Given the description of an element on the screen output the (x, y) to click on. 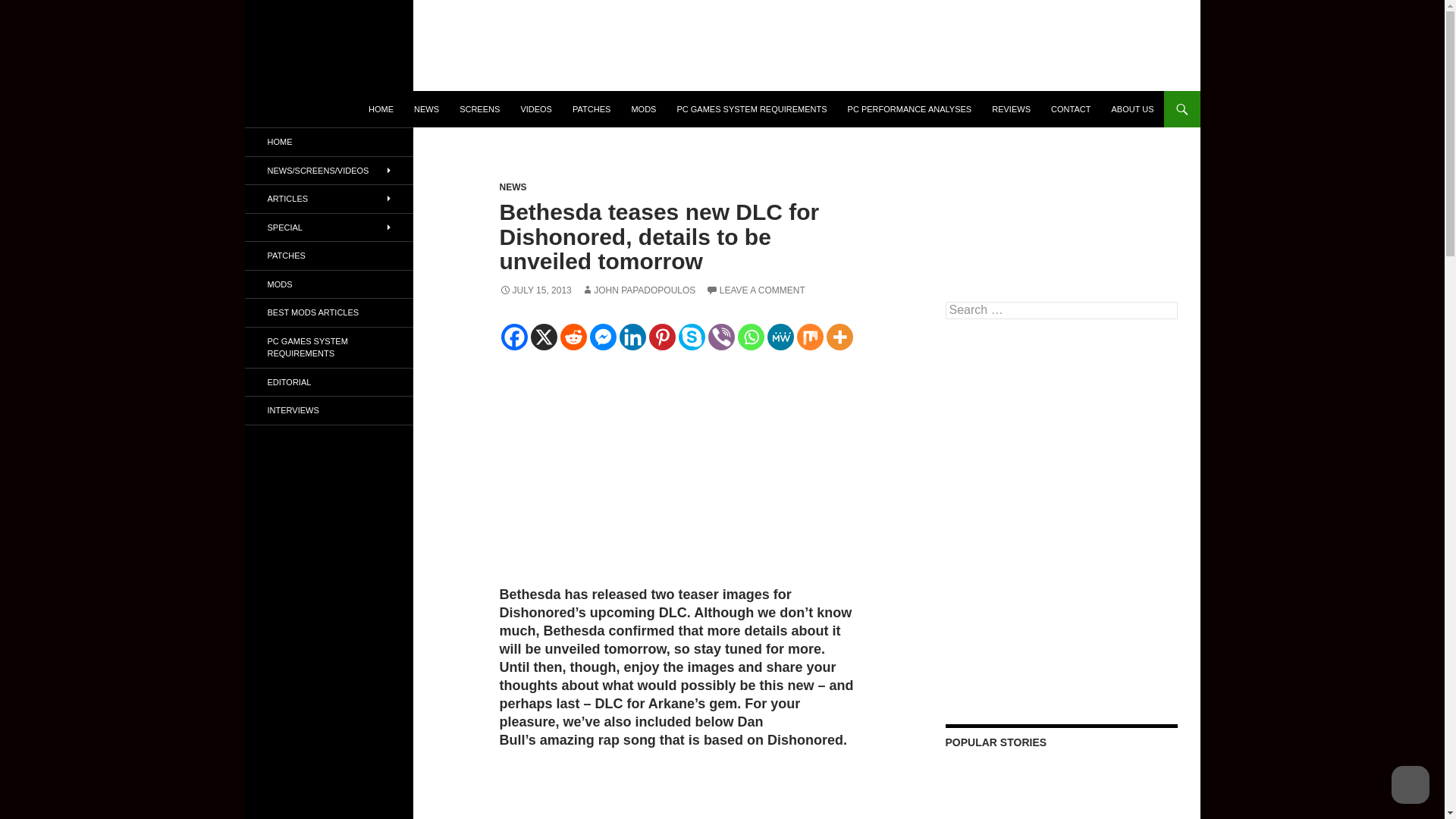
Pinterest (662, 336)
CONTACT (1070, 108)
More (840, 336)
Reddit (572, 336)
HOME (381, 108)
VIDEOS (535, 108)
Whatsapp (749, 336)
REVIEWS (1010, 108)
PC PERFORMANCE ANALYSES (909, 108)
Linkedin (631, 336)
JULY 15, 2013 (534, 290)
MODS (643, 108)
Facebook (513, 336)
